Given the description of an element on the screen output the (x, y) to click on. 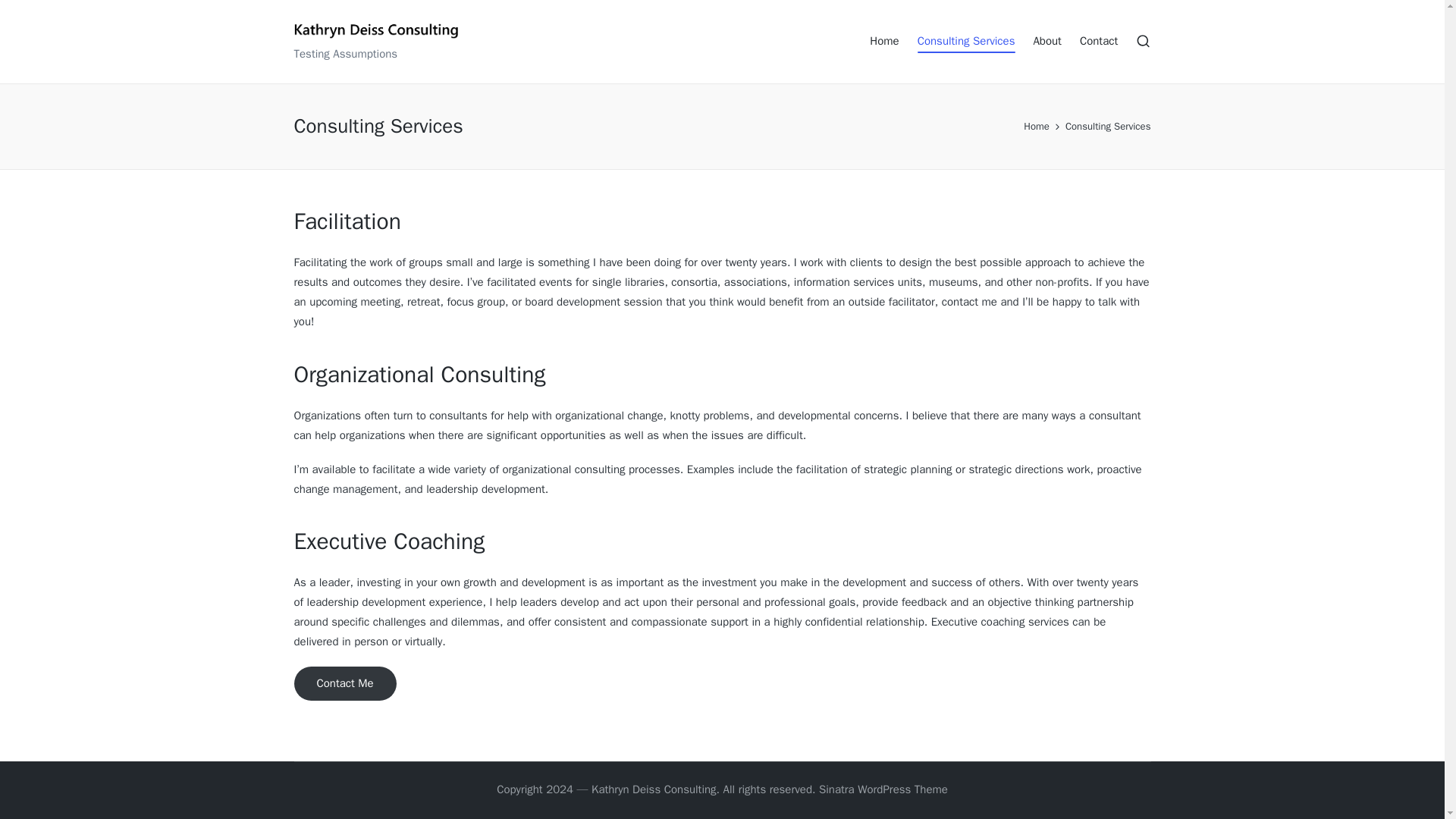
Home (1036, 126)
Contact Me (345, 683)
Consulting Services (965, 41)
Contact (1099, 41)
About (1046, 41)
Sinatra WordPress Theme (882, 790)
Home (883, 41)
